Given the description of an element on the screen output the (x, y) to click on. 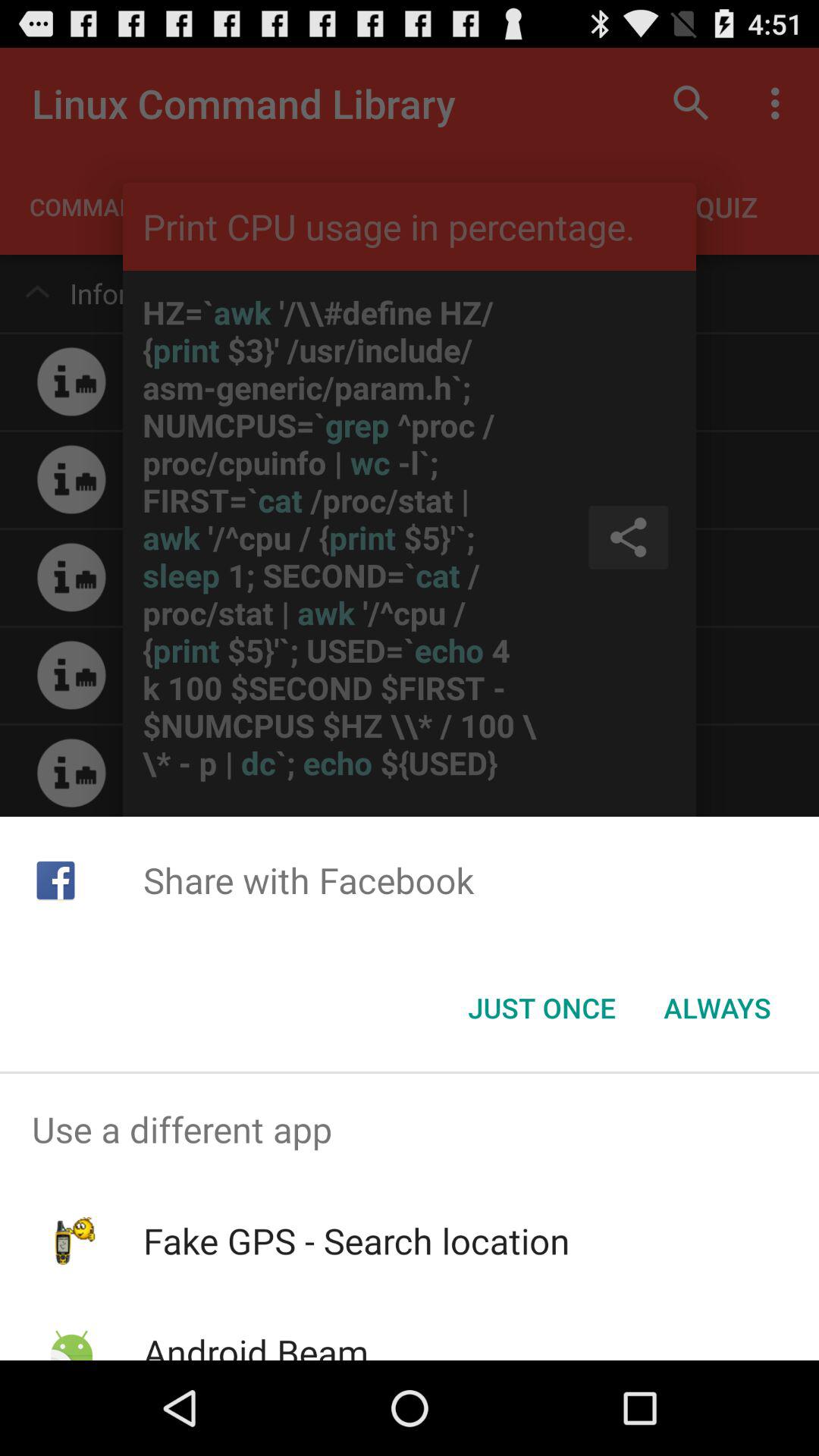
swipe until the use a different app (409, 1129)
